Given the description of an element on the screen output the (x, y) to click on. 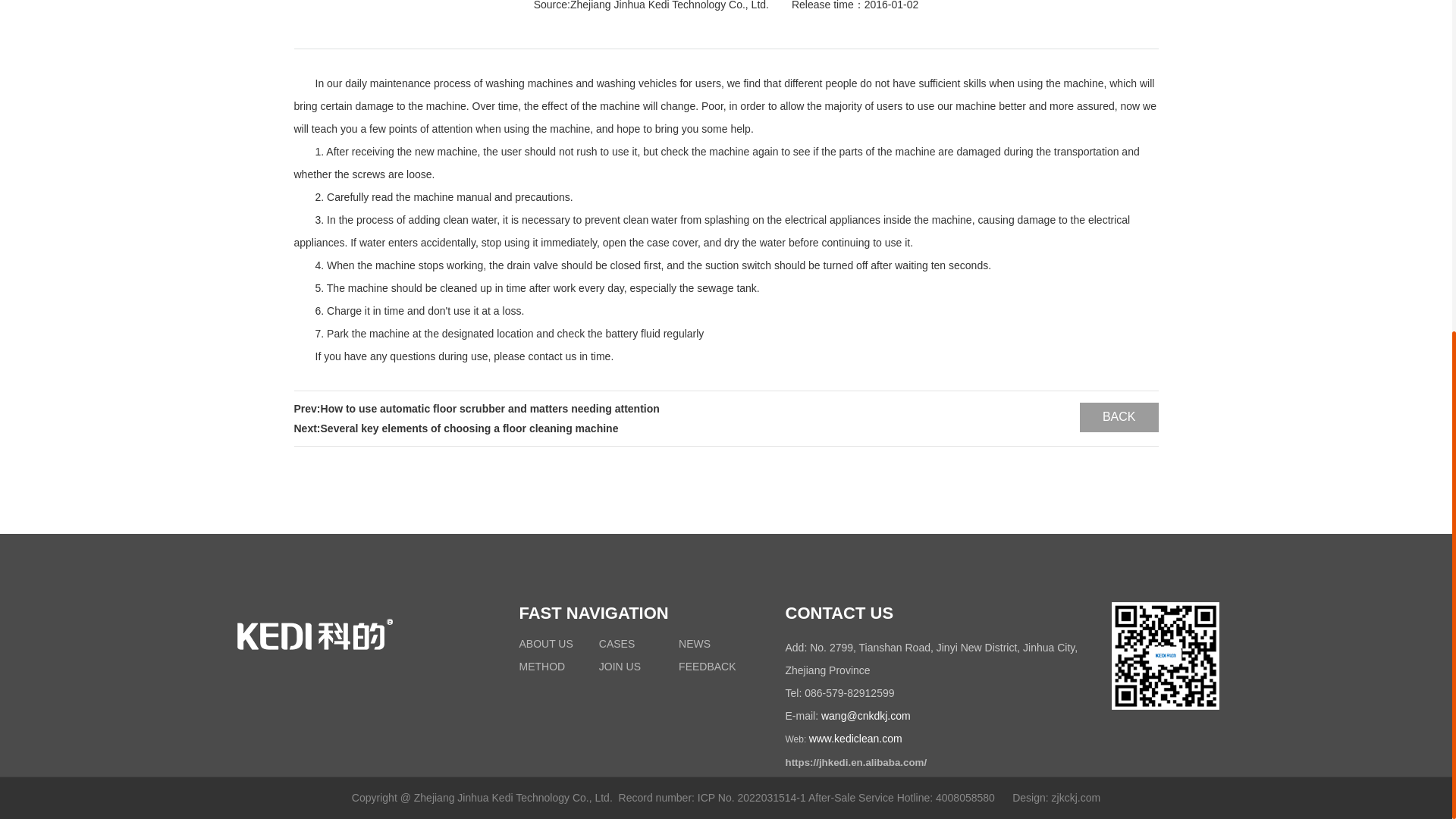
ABOUT US (545, 644)
FEEDBACK (706, 666)
JOIN US (619, 666)
CASES (616, 644)
ICP No. 2022031514-1 (751, 798)
zjkckj.com (1075, 798)
BACK (1119, 417)
NEWS (694, 644)
cnkdkj.com (884, 715)
www.kediclean.com (855, 738)
METHOD (541, 666)
